Given the description of an element on the screen output the (x, y) to click on. 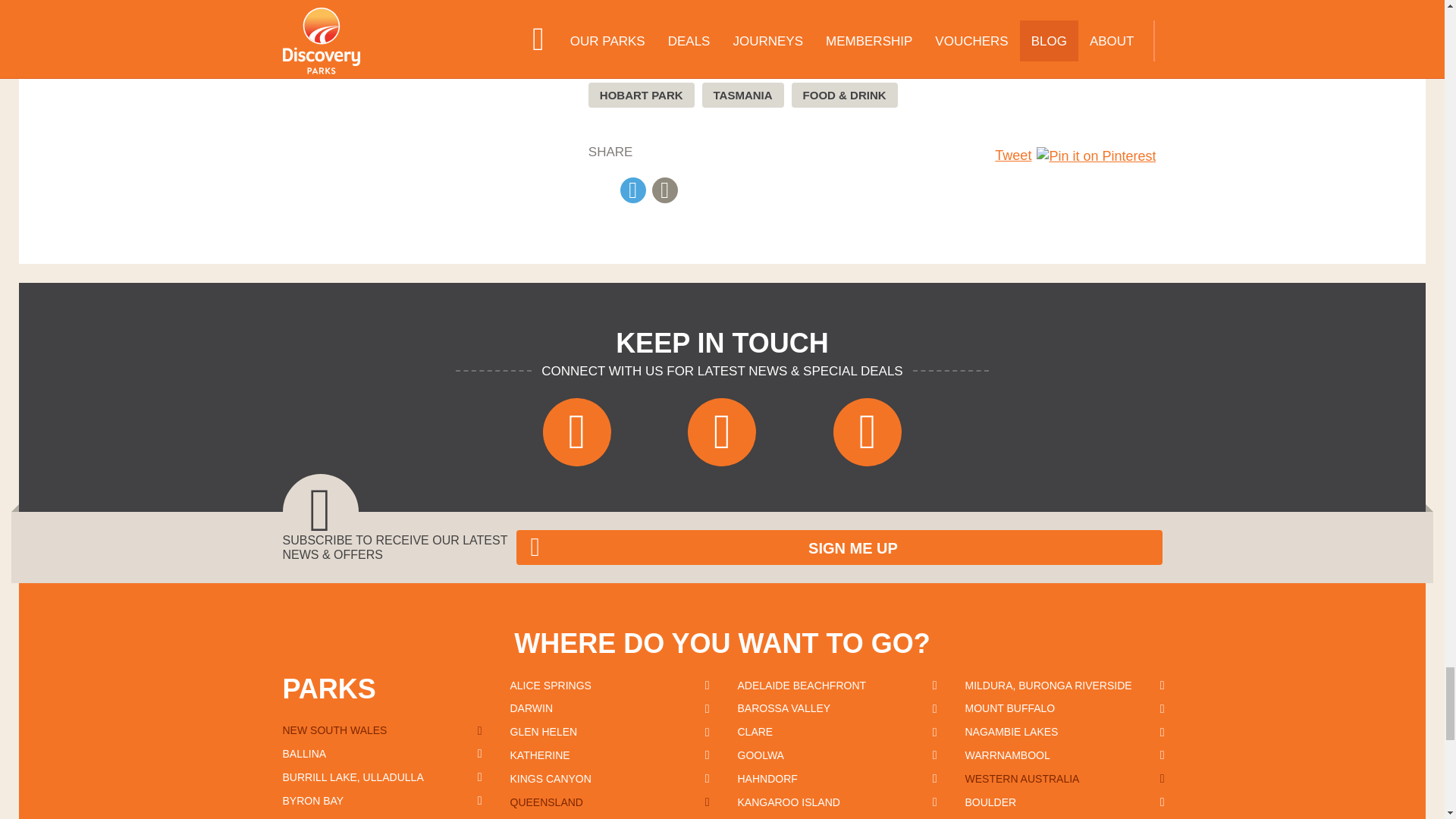
Instagram profile (721, 432)
Facebook page (577, 432)
YouTube channel (866, 432)
